Given the description of an element on the screen output the (x, y) to click on. 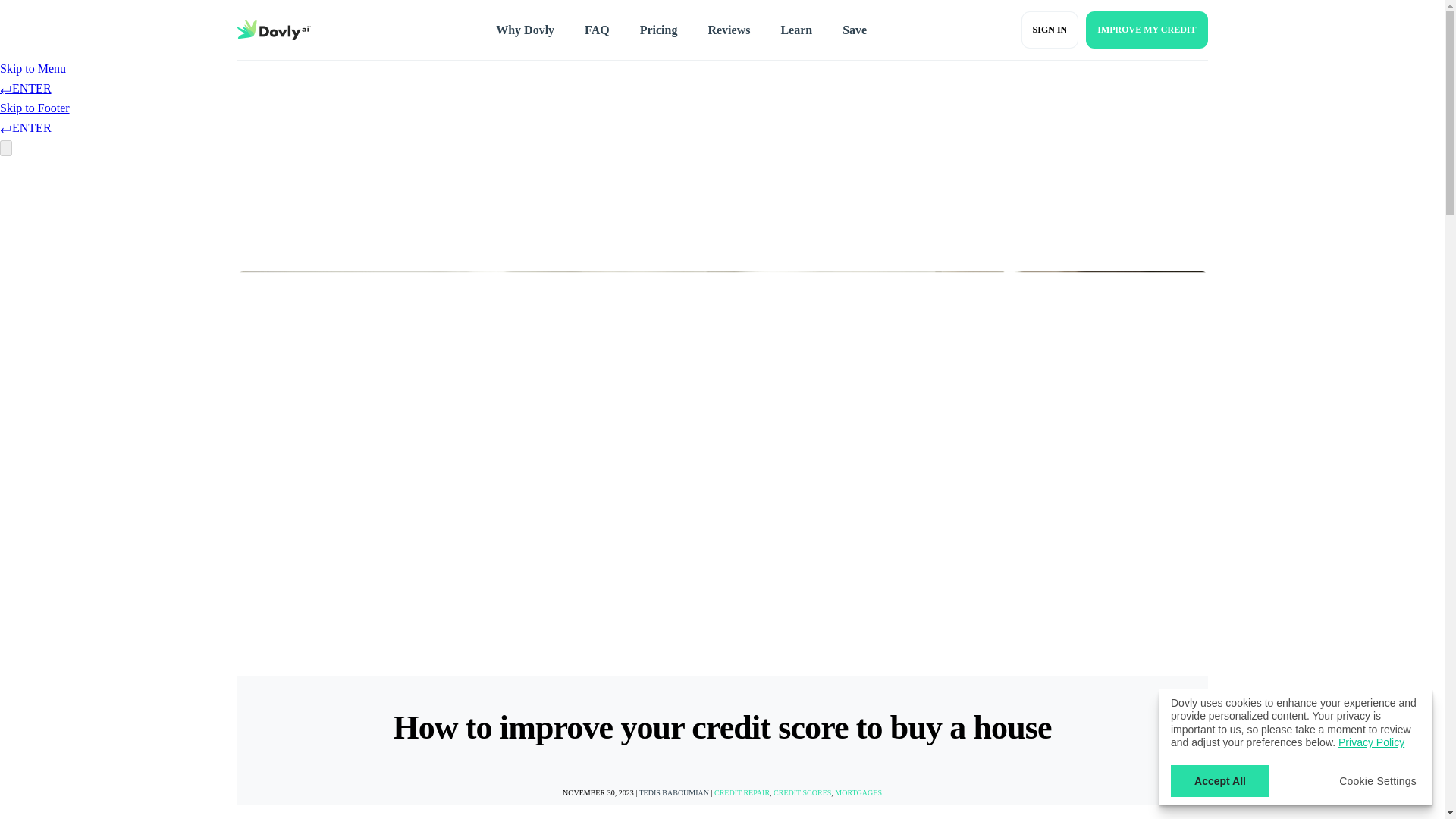
SIGN IN (1050, 29)
MORTGAGES (858, 792)
Dovly Privacy Policy (1371, 742)
CREDIT REPAIR (742, 792)
Why Dovly (525, 29)
CREDIT SCORES (802, 792)
TEDIS BABOUMIAN (674, 792)
IMPROVE MY CREDIT (1146, 29)
